Given the description of an element on the screen output the (x, y) to click on. 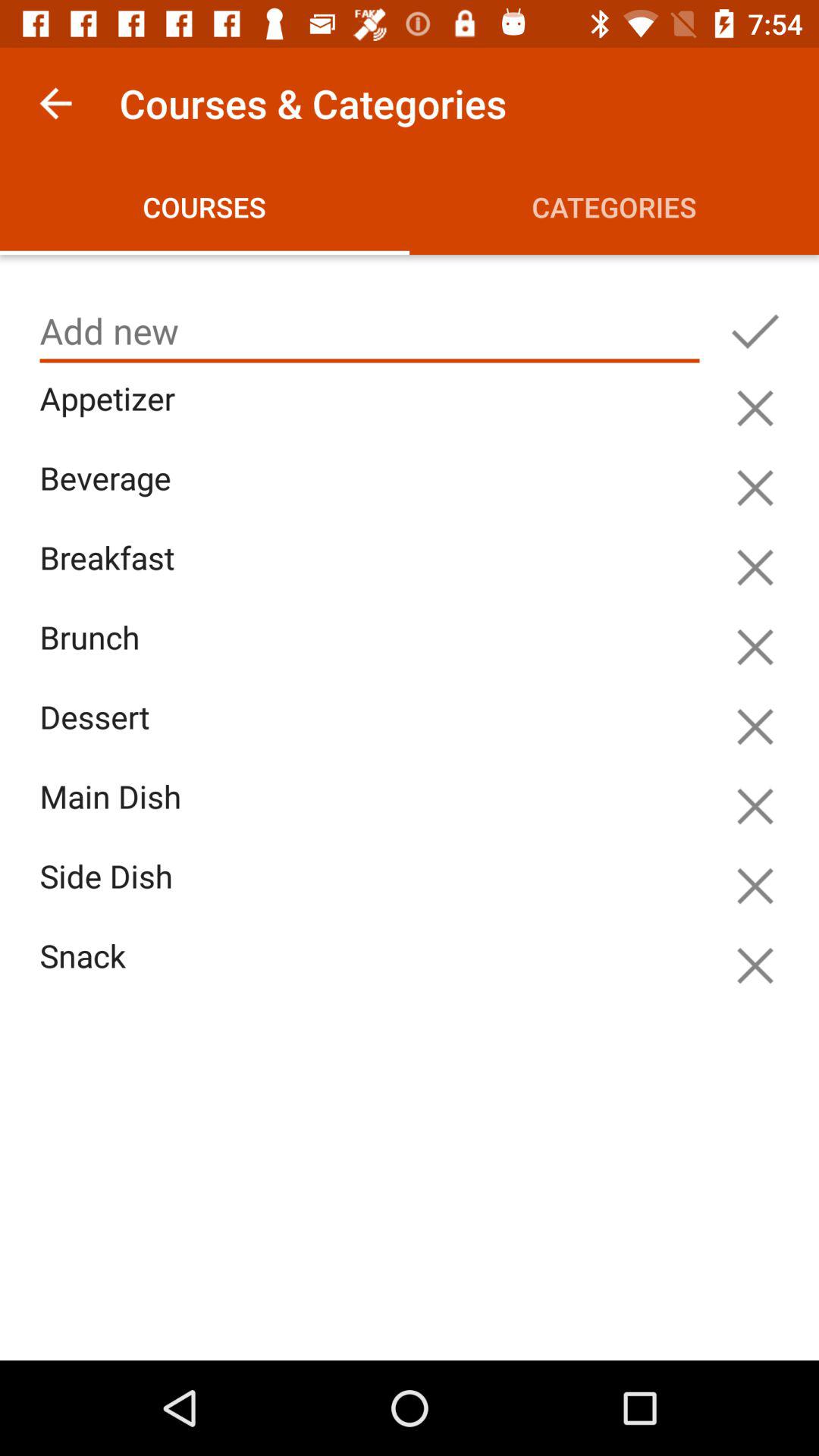
remove option (755, 806)
